Given the description of an element on the screen output the (x, y) to click on. 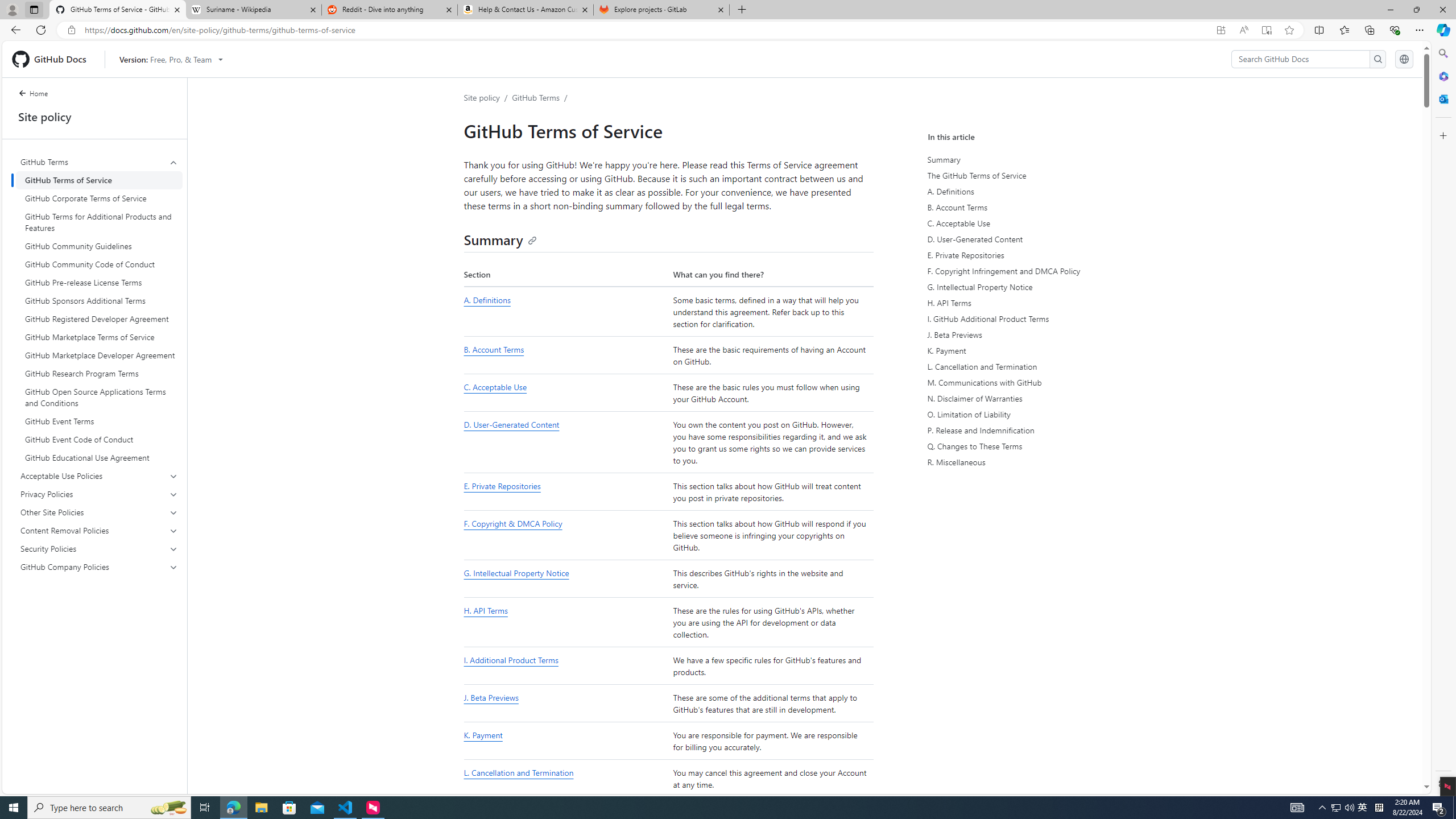
GitHub Marketplace Developer Agreement (99, 355)
GitHub Community Code of Conduct (99, 264)
GitHub Terms of Service (99, 180)
L. Cancellation and Termination (565, 778)
A. Definitions (565, 312)
G. Intellectual Property Notice (1032, 286)
R. Miscellaneous (1034, 462)
D. User-Generated Content (511, 424)
C. Acceptable Use (1032, 223)
GitHub Community Guidelines (99, 246)
P. Release and Indemnification (1034, 430)
M. Communications with GitHub (1032, 382)
GitHub Pre-release License Terms (99, 282)
